Given the description of an element on the screen output the (x, y) to click on. 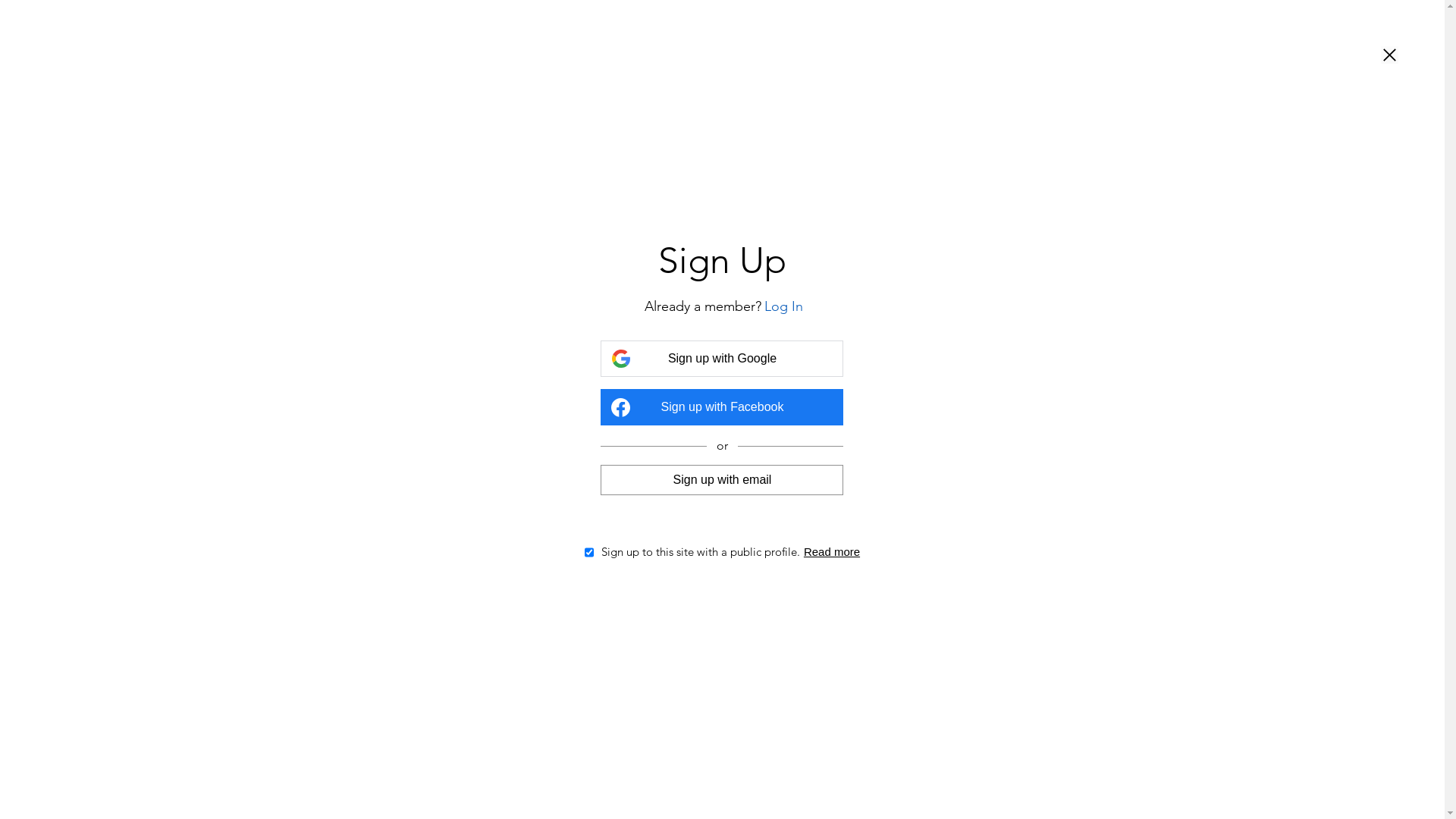
Read more Element type: text (831, 551)
Sign up with Google Element type: text (721, 358)
Sign up with Facebook Element type: text (721, 407)
Log In Element type: text (783, 306)
Sign up with email Element type: text (721, 479)
